Given the description of an element on the screen output the (x, y) to click on. 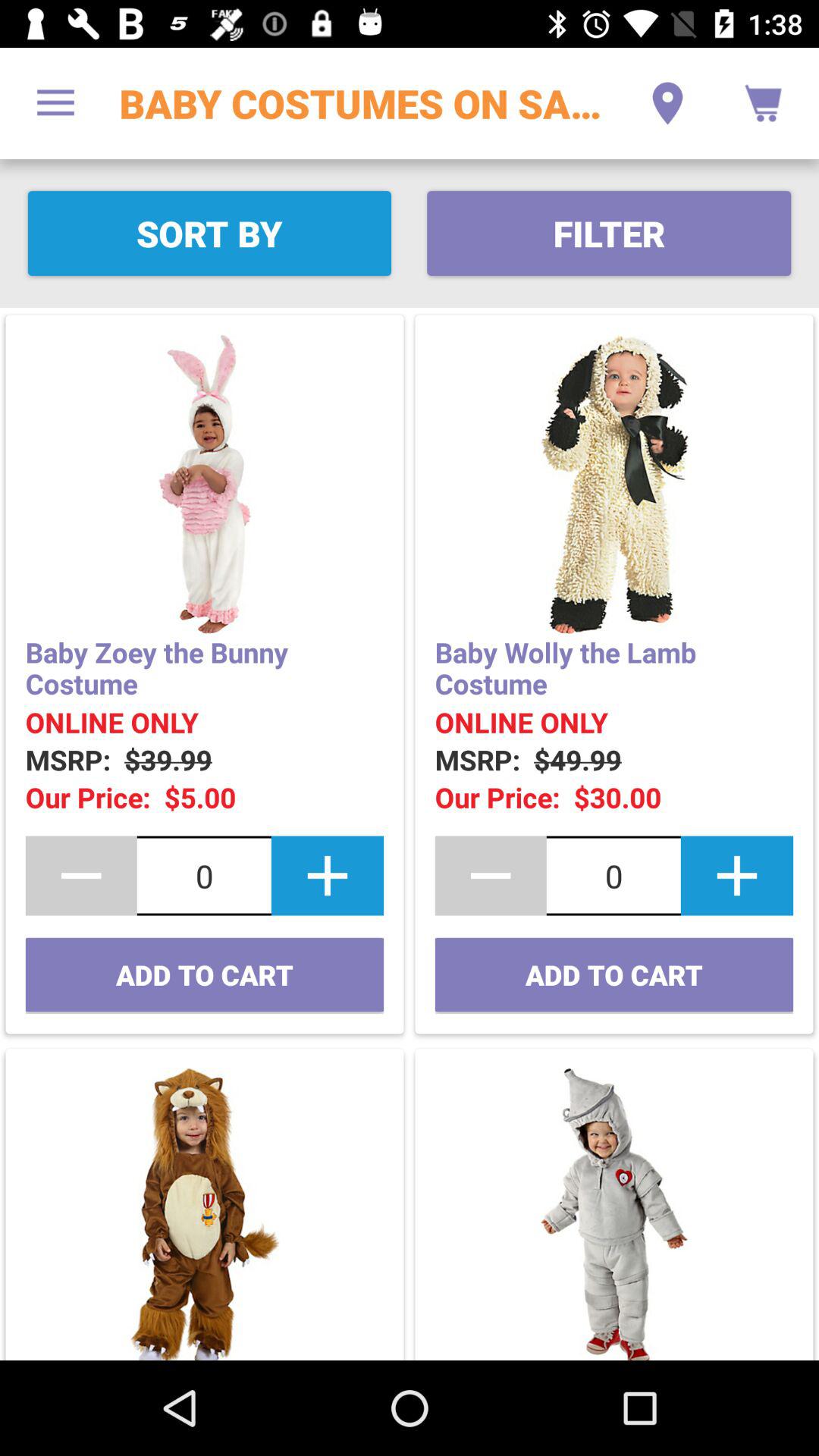
choose item above sort by item (55, 103)
